Given the description of an element on the screen output the (x, y) to click on. 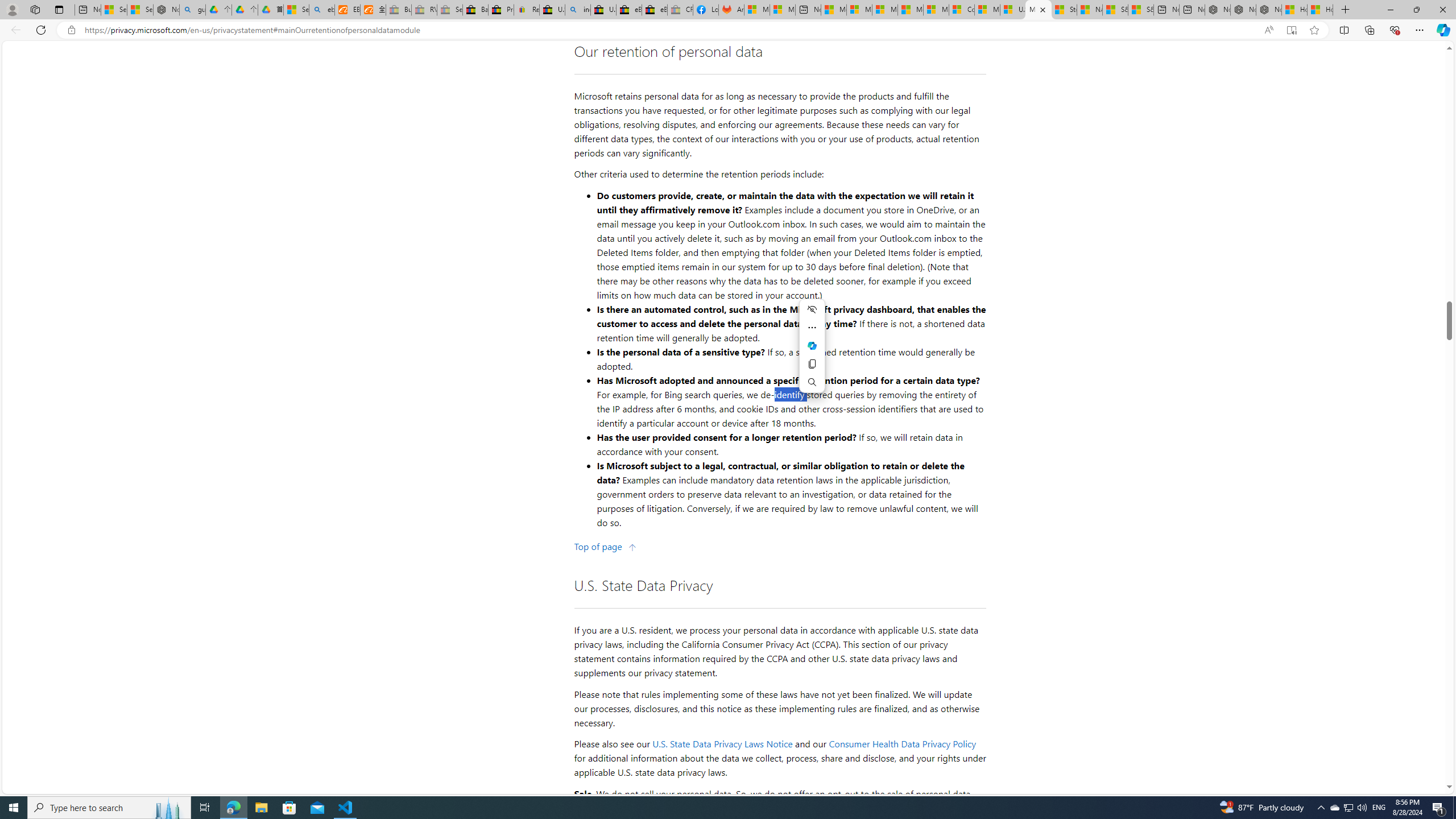
Press Room - eBay Inc. (500, 9)
Mini menu on text selection (812, 352)
Hide menu (811, 309)
U.S. State Data Privacy Laws Notice (722, 743)
More actions (811, 327)
Consumer Health Data Privacy Policy (961, 9)
U.S. State Privacy Disclosures - eBay Inc. (603, 9)
